Given the description of an element on the screen output the (x, y) to click on. 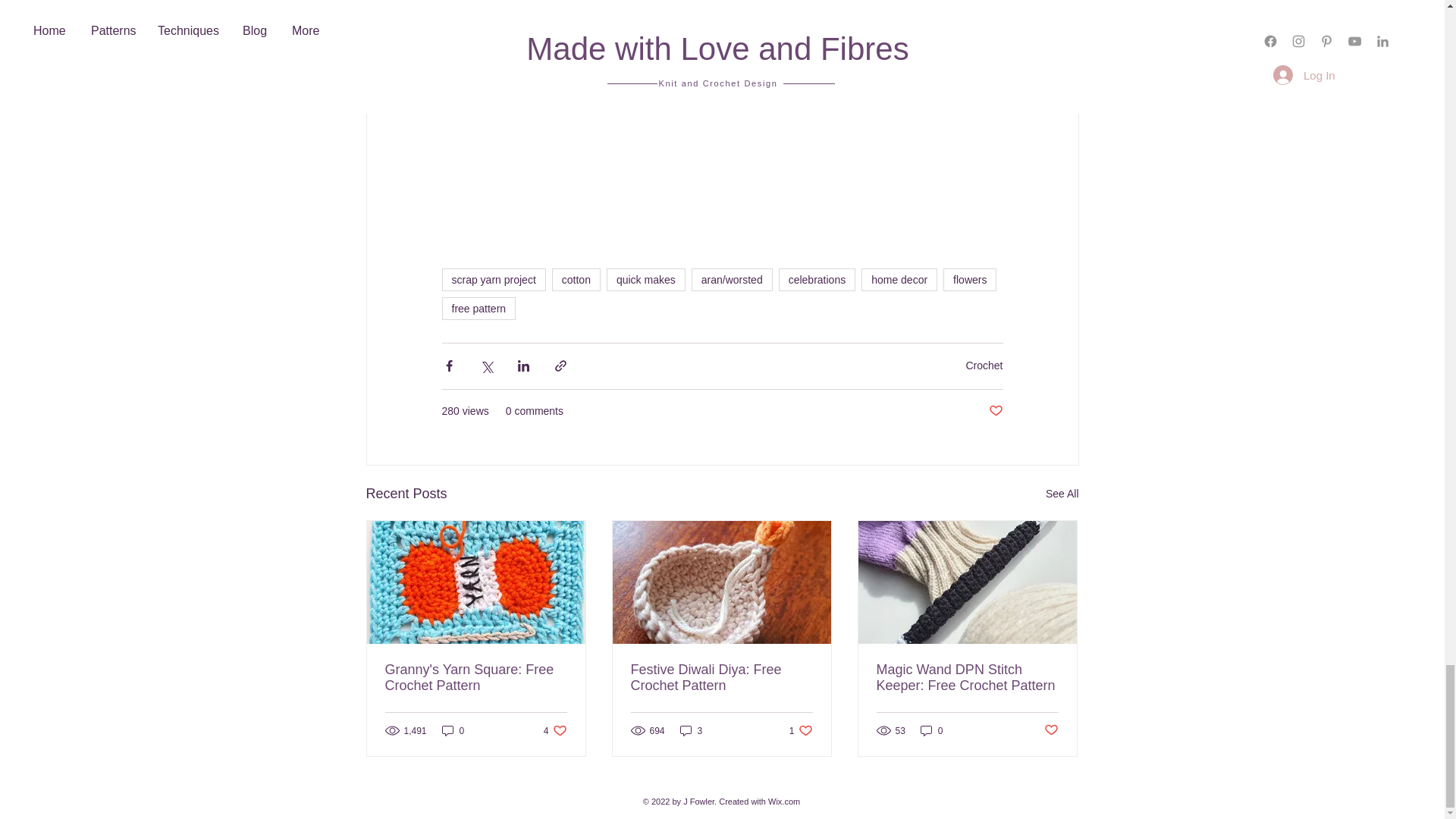
home decor (899, 279)
free pattern (478, 308)
remote content (722, 145)
celebrations (817, 279)
flowers (969, 279)
scrap yarn project (492, 279)
quick makes (646, 279)
Crochet (984, 365)
cotton (575, 279)
